Given the description of an element on the screen output the (x, y) to click on. 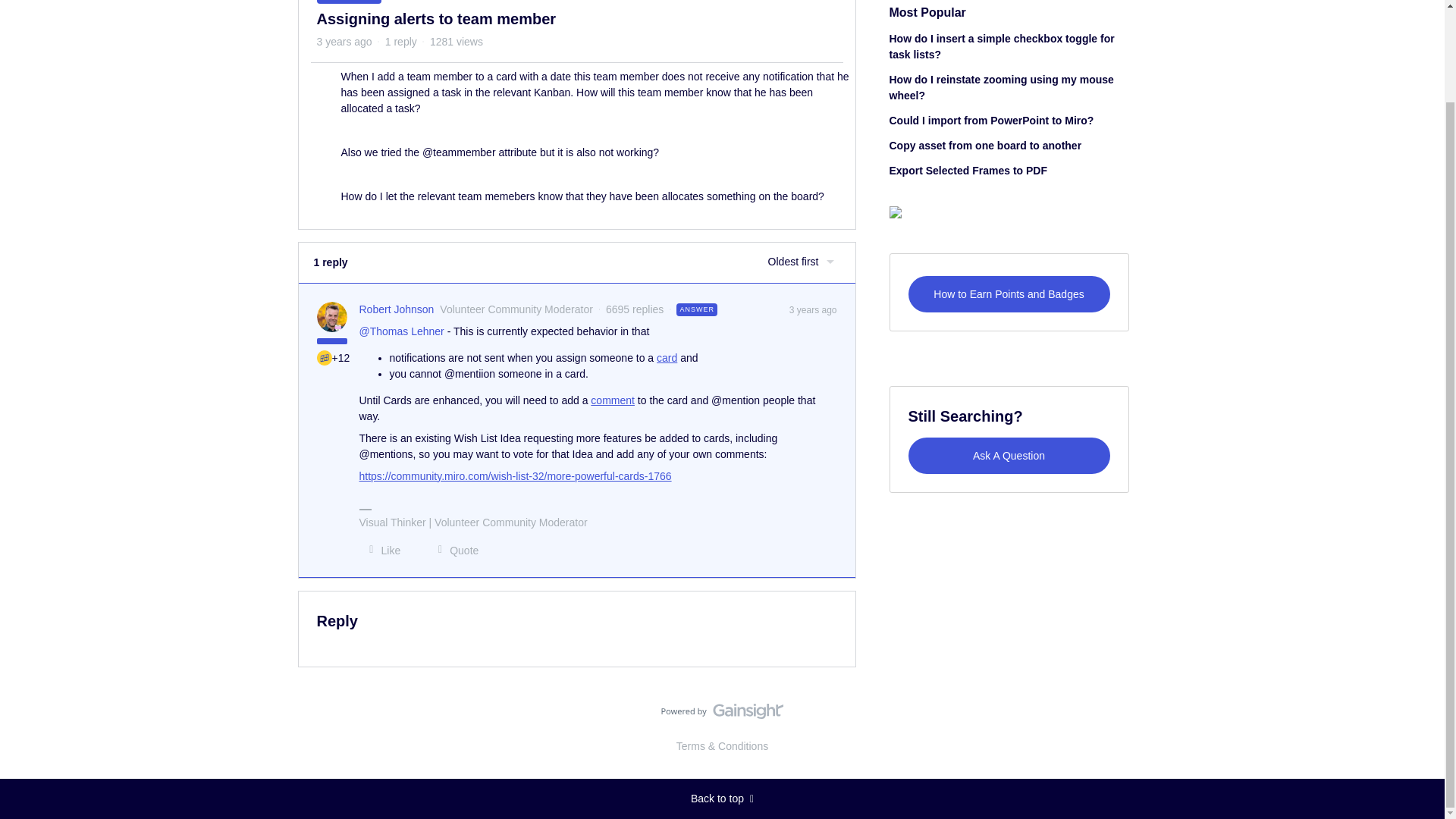
How to Earn Points and Badges (1008, 294)
Robert Johnson (396, 309)
Export Selected Frames to PDF (967, 170)
1 reply (400, 41)
card (666, 357)
Visit Gainsight.com (722, 714)
Could I import from PowerPoint to Miro? (990, 120)
NEW Miro Hero (324, 357)
Back to top (722, 798)
Like (380, 549)
